Given the description of an element on the screen output the (x, y) to click on. 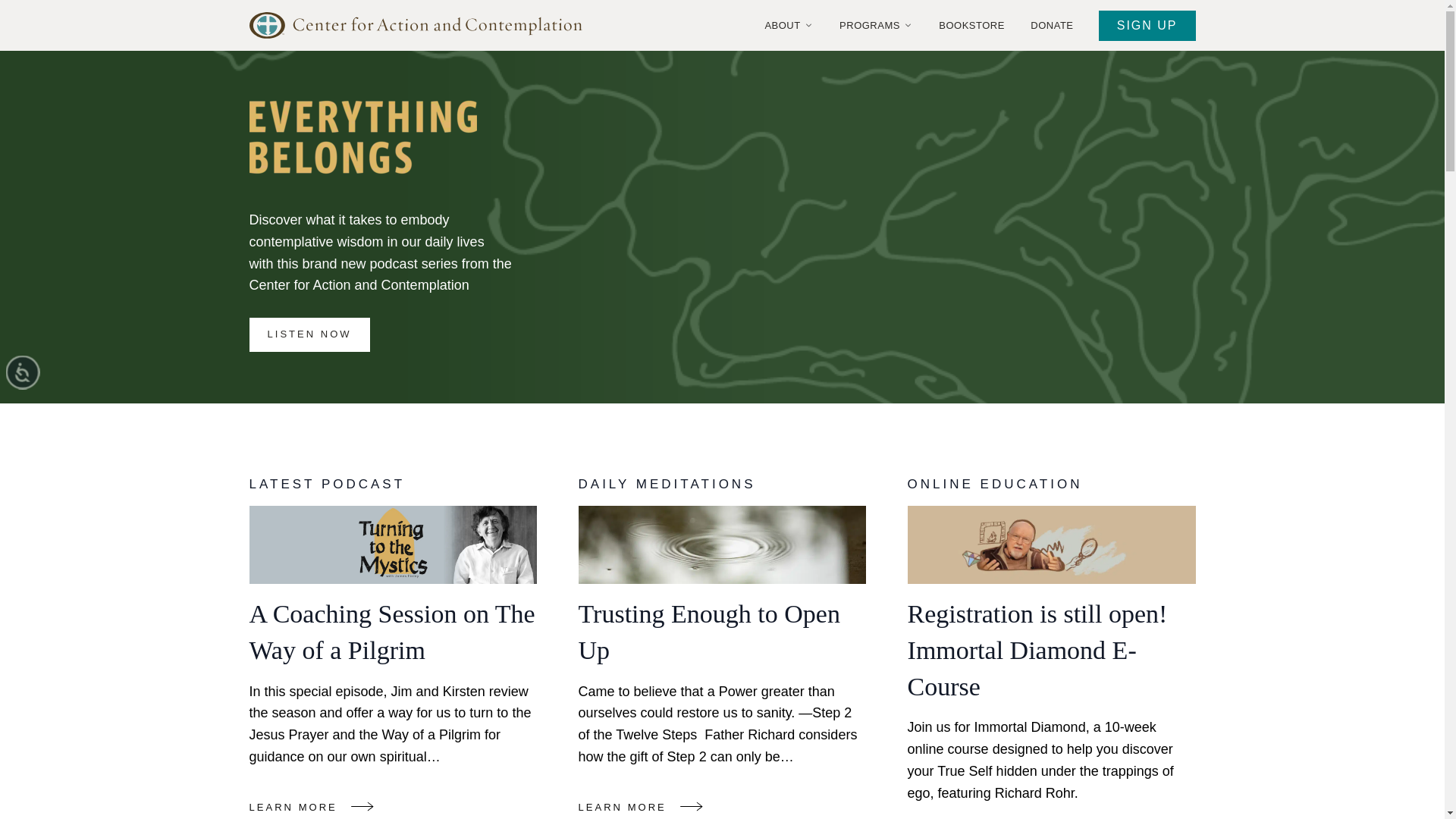
SIGN UP (1147, 25)
Center for Action and Contemplation (421, 25)
LISTEN NOW (308, 334)
DONATE (1051, 25)
A Coaching Session on The Way of a Pilgrim (392, 545)
BOOKSTORE (971, 25)
PROGRAMS (875, 25)
ACCESSIBILITY (39, 388)
ABOUT (788, 25)
